Given the description of an element on the screen output the (x, y) to click on. 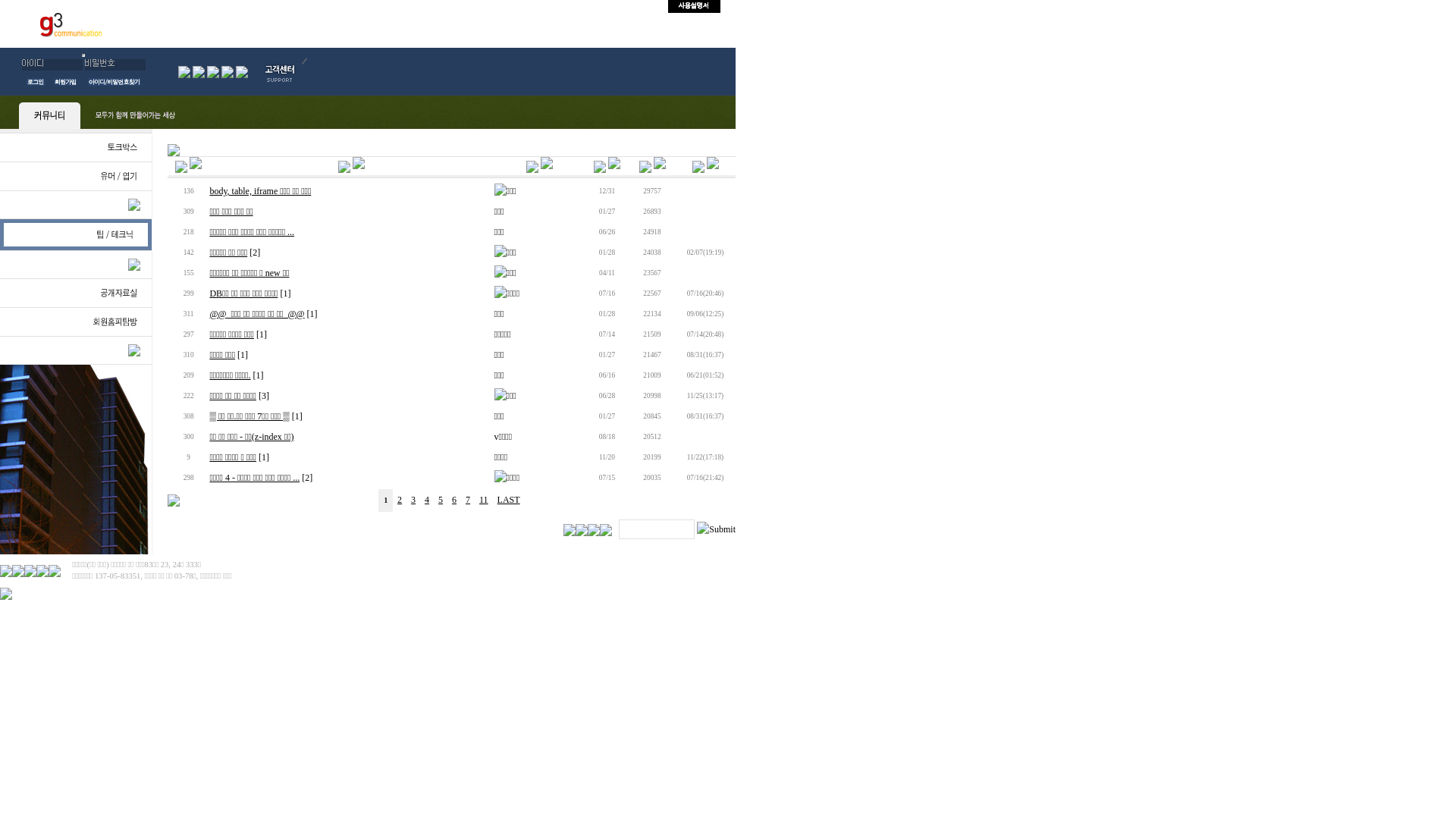
4 Element type: text (426, 499)
6 Element type: text (453, 499)
08/31(16:37) Element type: text (705, 416)
08/31(16:37) Element type: text (705, 354)
LAST Element type: text (508, 499)
[1] Element type: text (242, 354)
3 Element type: text (413, 499)
07/14(20:48) Element type: text (705, 334)
11/22(17:18) Element type: text (705, 457)
[3] Element type: text (263, 395)
06/21(01:52) Element type: text (705, 375)
07/16(21:42) Element type: text (705, 477)
[1] Element type: text (284, 293)
11/25(13:17) Element type: text (705, 395)
[2] Element type: text (306, 477)
5 Element type: text (440, 499)
7 Element type: text (467, 499)
2 Element type: text (399, 499)
[2] Element type: text (254, 252)
[1] Element type: text (258, 375)
11 Element type: text (483, 499)
09/06(12:25) Element type: text (705, 313)
[1] Element type: text (263, 456)
[1] Element type: text (296, 416)
07/16(20:46) Element type: text (705, 293)
02/07(19:19) Element type: text (705, 252)
[1] Element type: text (312, 313)
[1] Element type: text (261, 334)
